Given the description of an element on the screen output the (x, y) to click on. 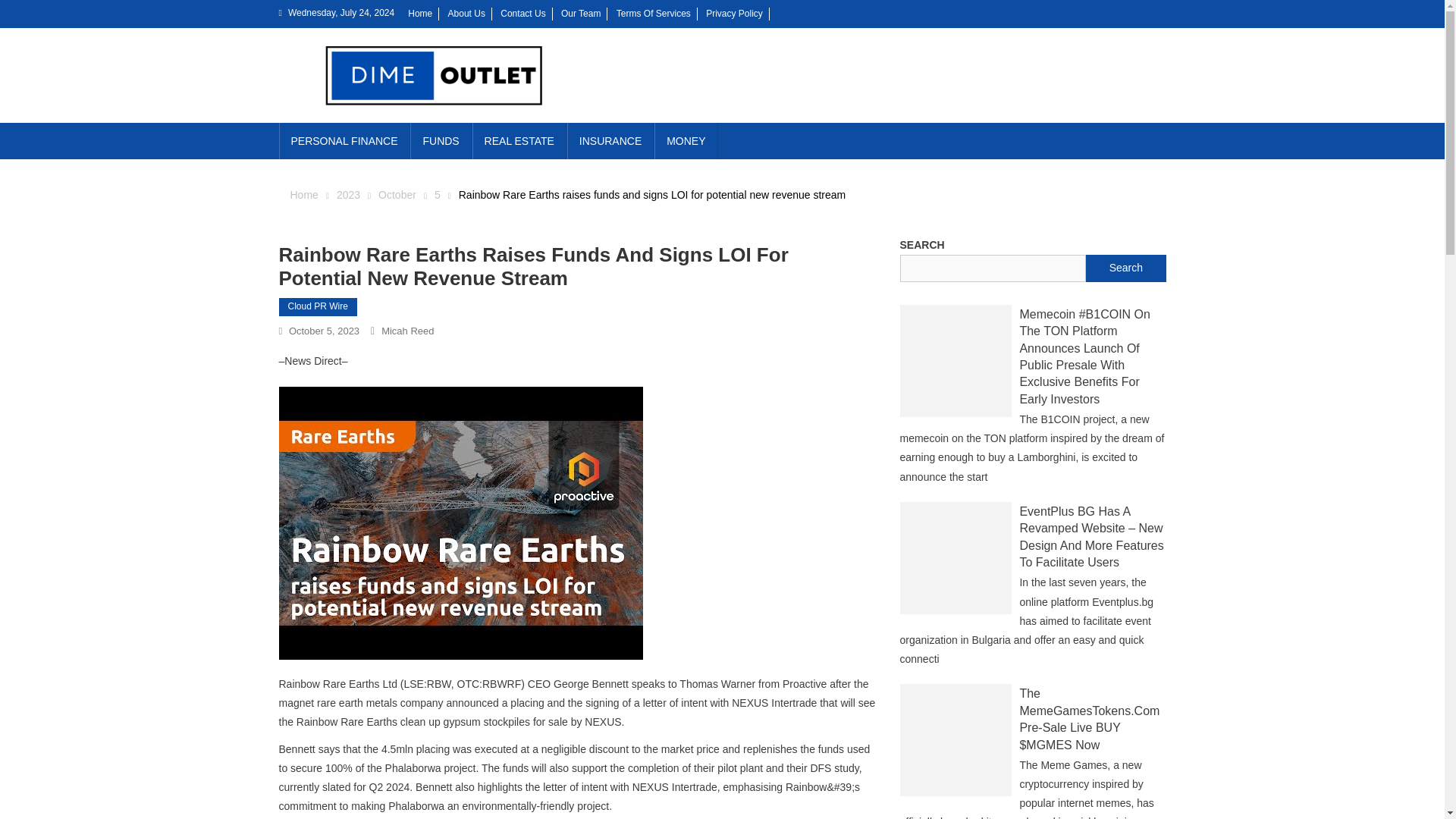
PERSONAL FINANCE (344, 140)
Our Team (579, 13)
Contact Us (522, 13)
Home (303, 194)
Micah Reed (407, 330)
REAL ESTATE (518, 140)
Terms Of Services (652, 13)
2023 (347, 194)
October 5, 2023 (323, 330)
INSURANCE (610, 140)
October (397, 194)
MONEY (685, 140)
Privacy Policy (734, 13)
5 (437, 194)
FUNDS (440, 140)
